Given the description of an element on the screen output the (x, y) to click on. 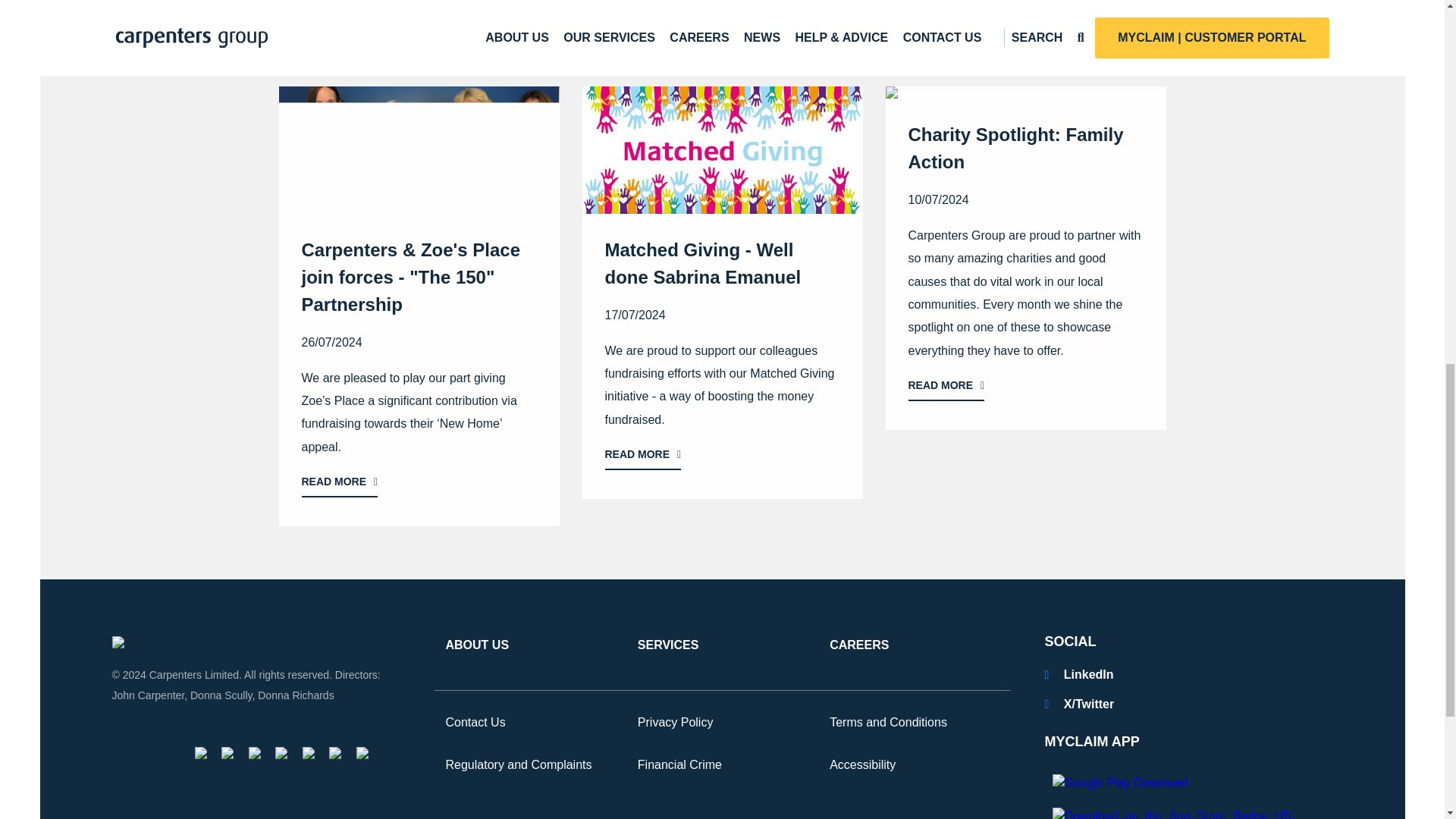
Accessibility (862, 765)
Privacy Policy (675, 722)
LinkedIn (1079, 674)
Matched Giving - Well done Sabrina Emanuel  (722, 355)
IFB (200, 751)
Regulatory and Complaints (518, 765)
CAREERS (858, 645)
SERVICES (667, 645)
ABOUT US (477, 645)
Terms and Conditions (888, 722)
Financial Crime (679, 765)
Contact Us (475, 722)
